Given the description of an element on the screen output the (x, y) to click on. 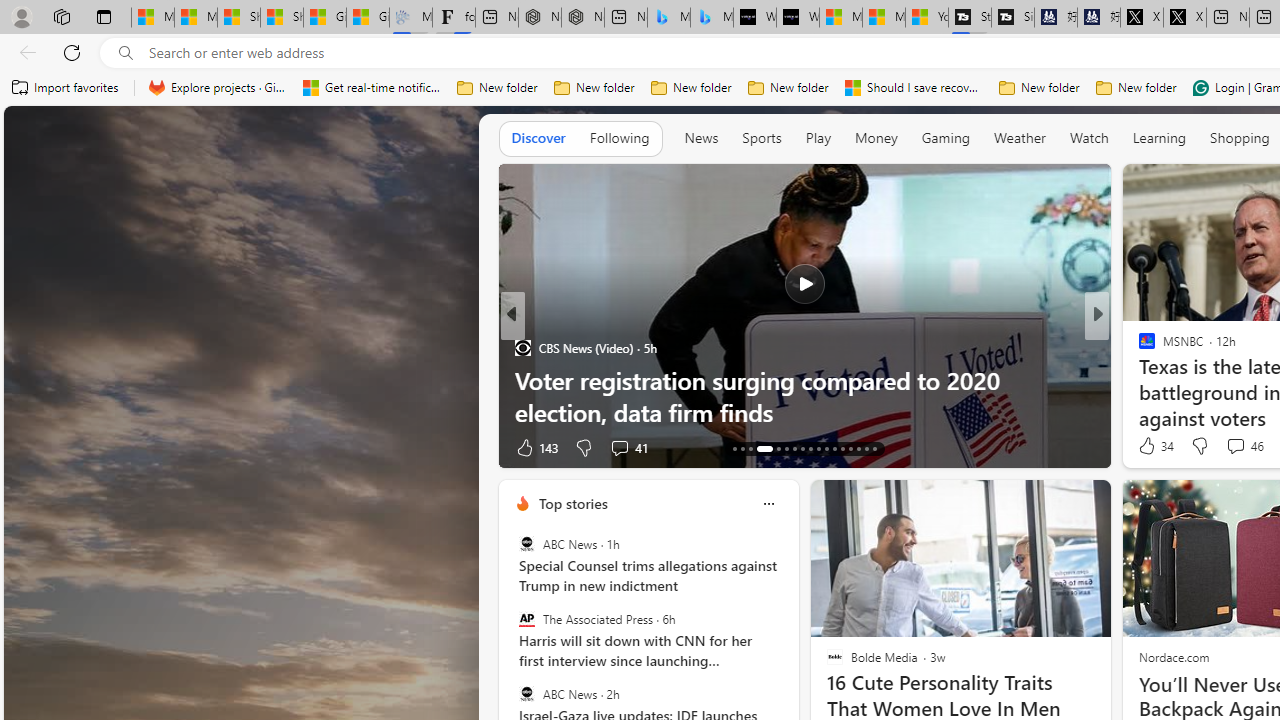
AutomationID: tab-14 (742, 448)
Learning (1159, 138)
Gilma and Hector both pose tropical trouble for Hawaii (367, 17)
Class: icon-img (768, 503)
View comments 3 Comment (1241, 447)
AutomationID: tab-40 (857, 448)
AutomationID: tab-23 (825, 448)
Sports (761, 138)
View comments 107 Comment (1241, 447)
AutomationID: tab-24 (833, 448)
